Given the description of an element on the screen output the (x, y) to click on. 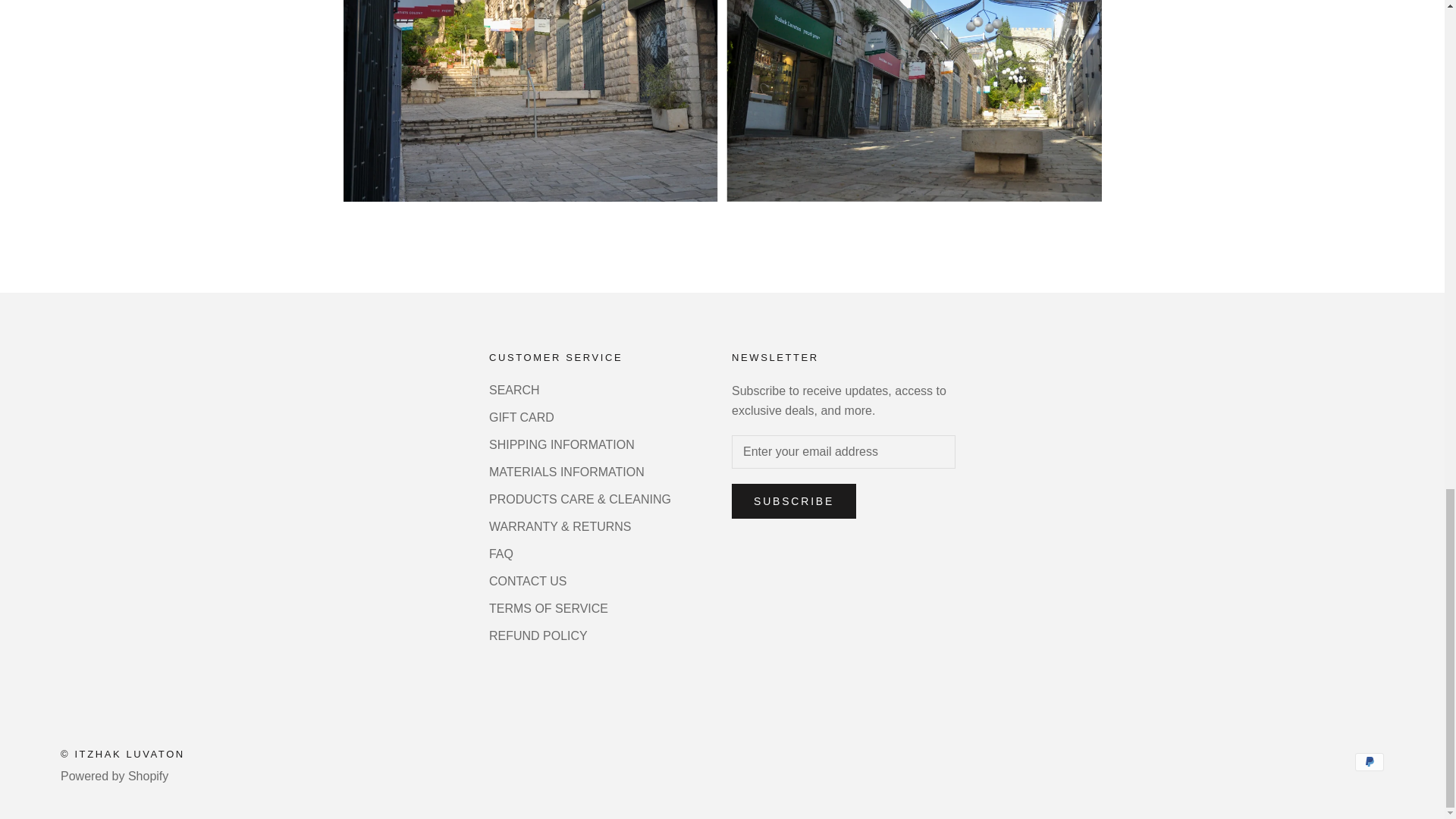
PayPal (1369, 761)
